Given the description of an element on the screen output the (x, y) to click on. 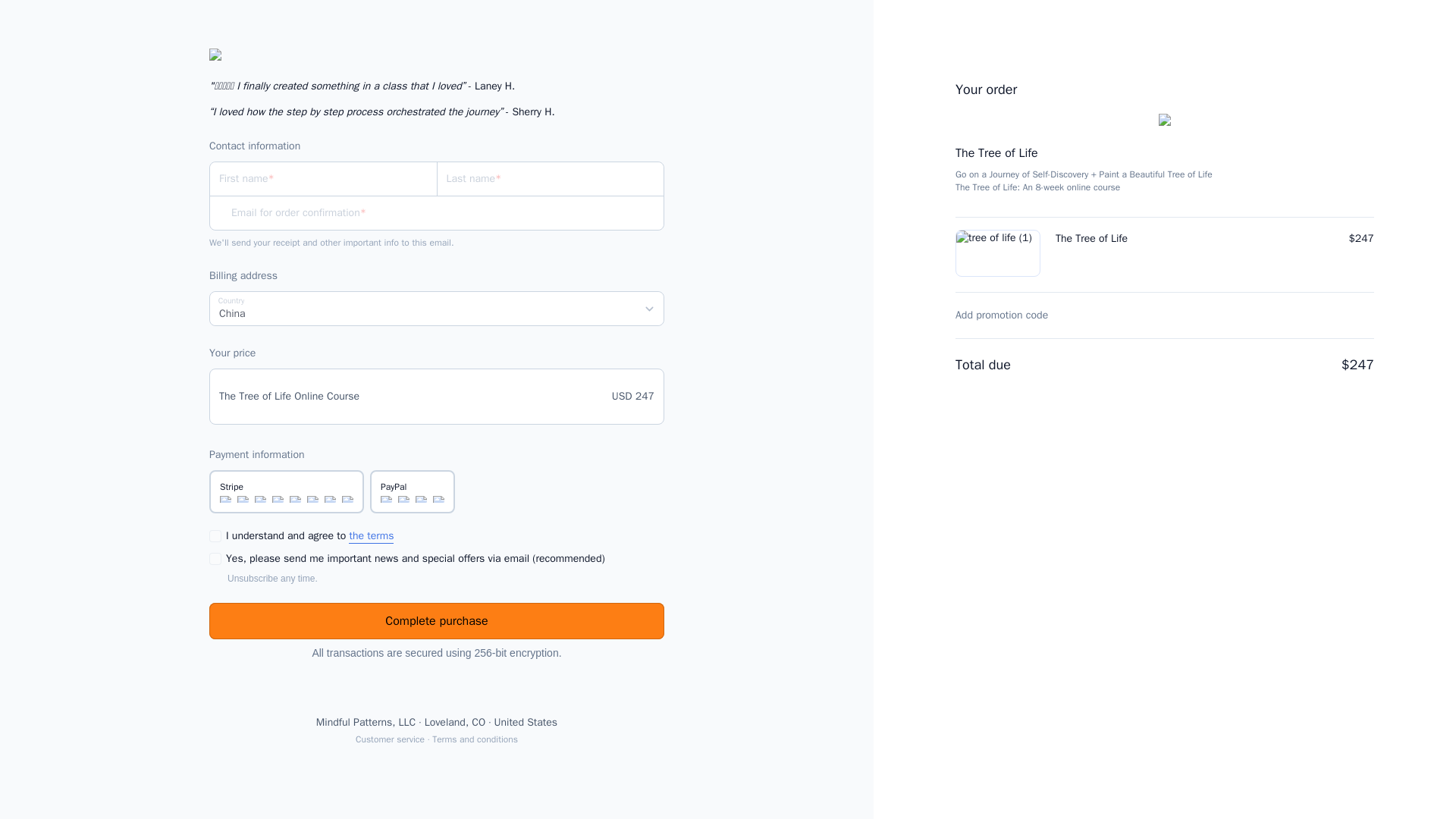
Visa (385, 499)
pp-279838-card (224, 491)
Mastercard (403, 499)
Complete purchase (436, 620)
1 (215, 535)
1 (215, 558)
Terms and conditions (475, 739)
Mastercard (242, 499)
Customer service (390, 739)
Amex (260, 499)
Discover (277, 499)
the terms (371, 536)
Amex (420, 499)
Bancontact (347, 499)
pp-280814 (385, 491)
